Given the description of an element on the screen output the (x, y) to click on. 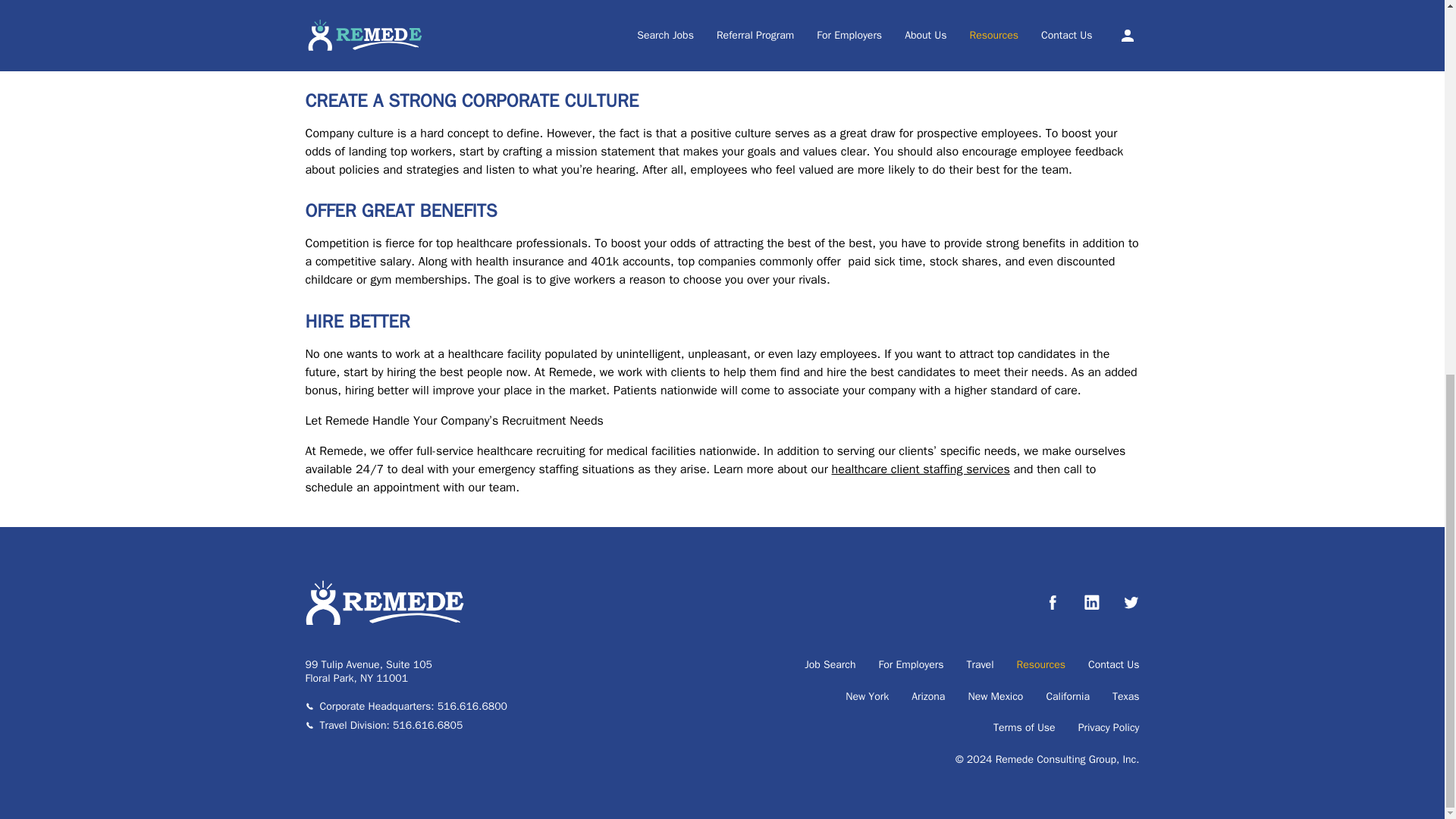
Arizona (927, 696)
New York (866, 696)
Contact Us (1112, 664)
Resources (1040, 664)
For Employers (911, 664)
Job Search (830, 664)
Go to the home page. (384, 621)
516.616.6805 (428, 725)
healthcare client staffing services (920, 468)
516.616.6800 (472, 706)
Travel (979, 664)
